Given the description of an element on the screen output the (x, y) to click on. 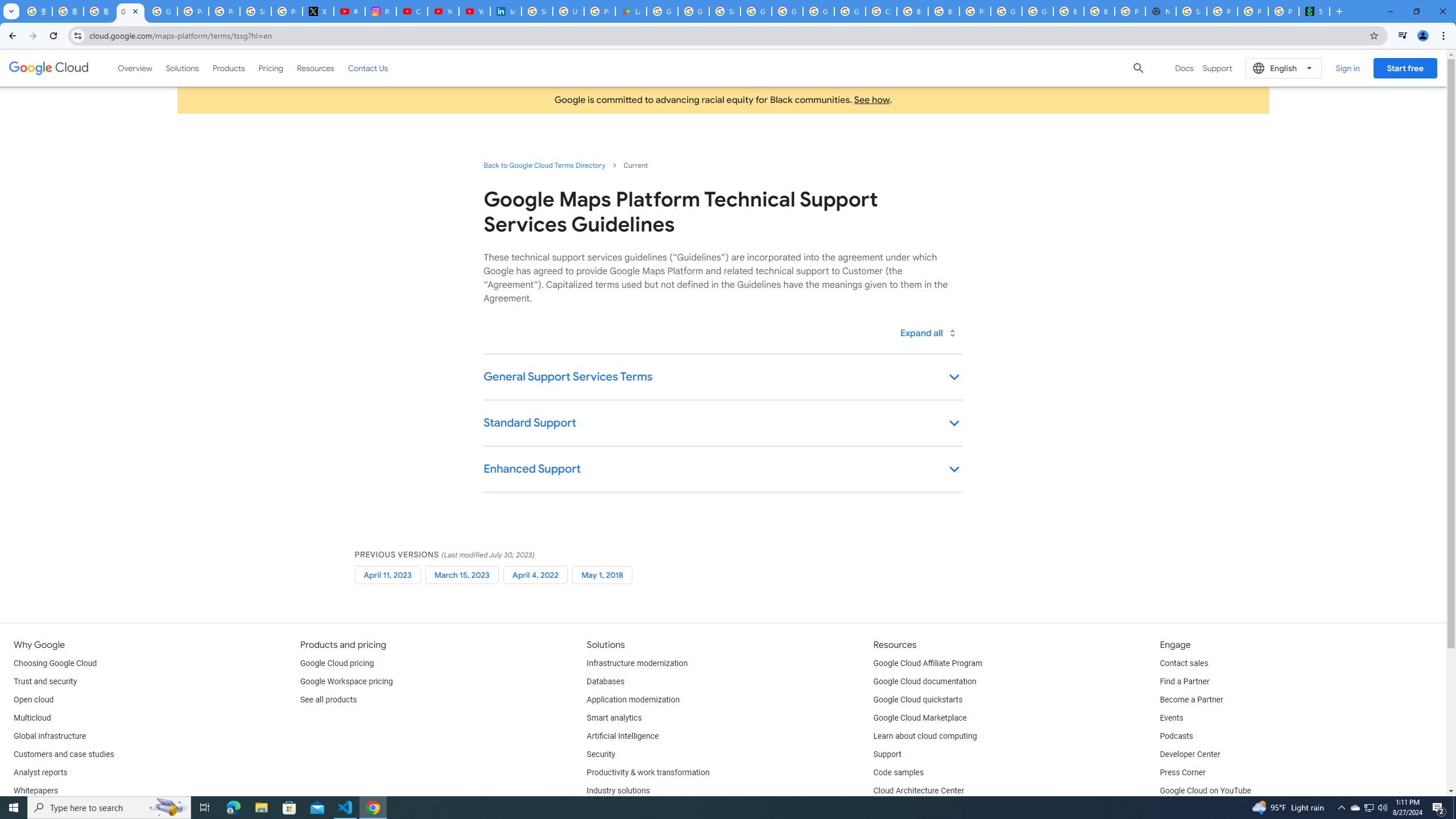
Standard Support keyboard_arrow_down (722, 424)
Developer Center (1189, 754)
Find a Partner (1183, 682)
Google Workspace - Specific Terms (693, 11)
Google Cloud documentation (924, 682)
Resources (314, 67)
Industry solutions (617, 791)
Browse Chrome as a guest - Computer - Google Chrome Help (912, 11)
#nbabasketballhighlights - YouTube (349, 11)
Multicloud (31, 718)
Start free (1405, 67)
